Given the description of an element on the screen output the (x, y) to click on. 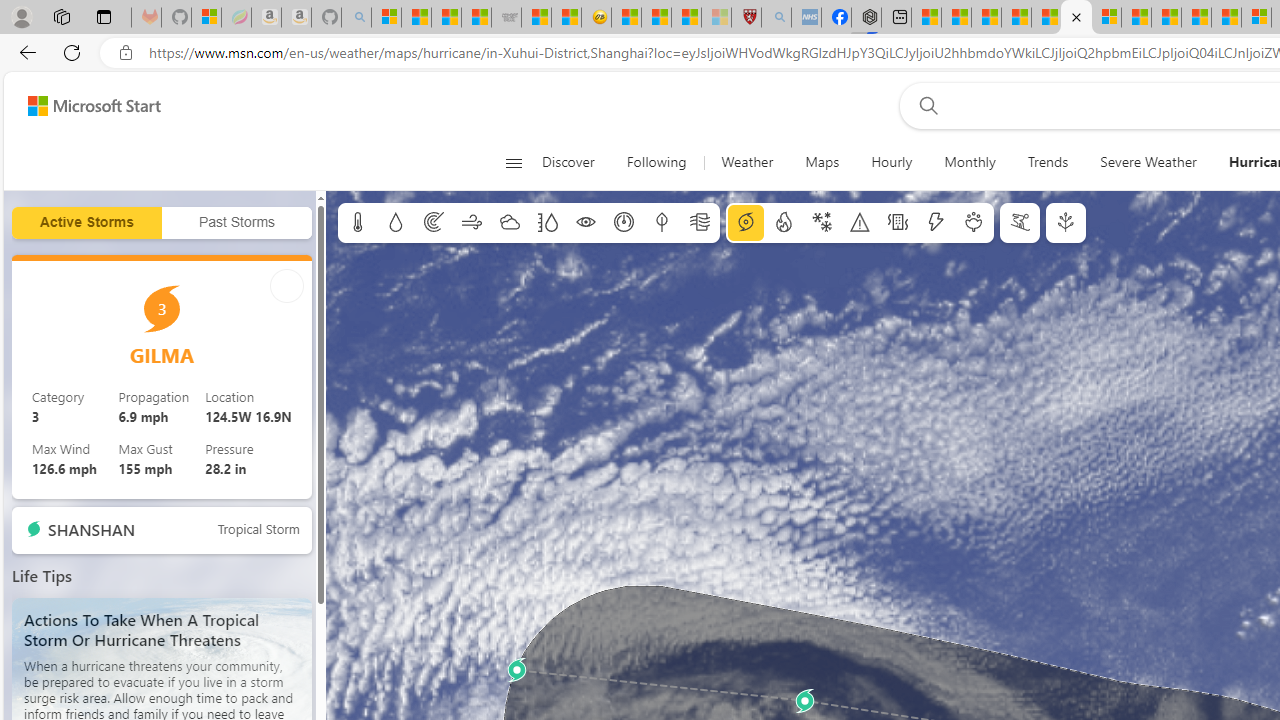
Humidity (547, 223)
Radar (433, 223)
Pollen (974, 223)
